Given the description of an element on the screen output the (x, y) to click on. 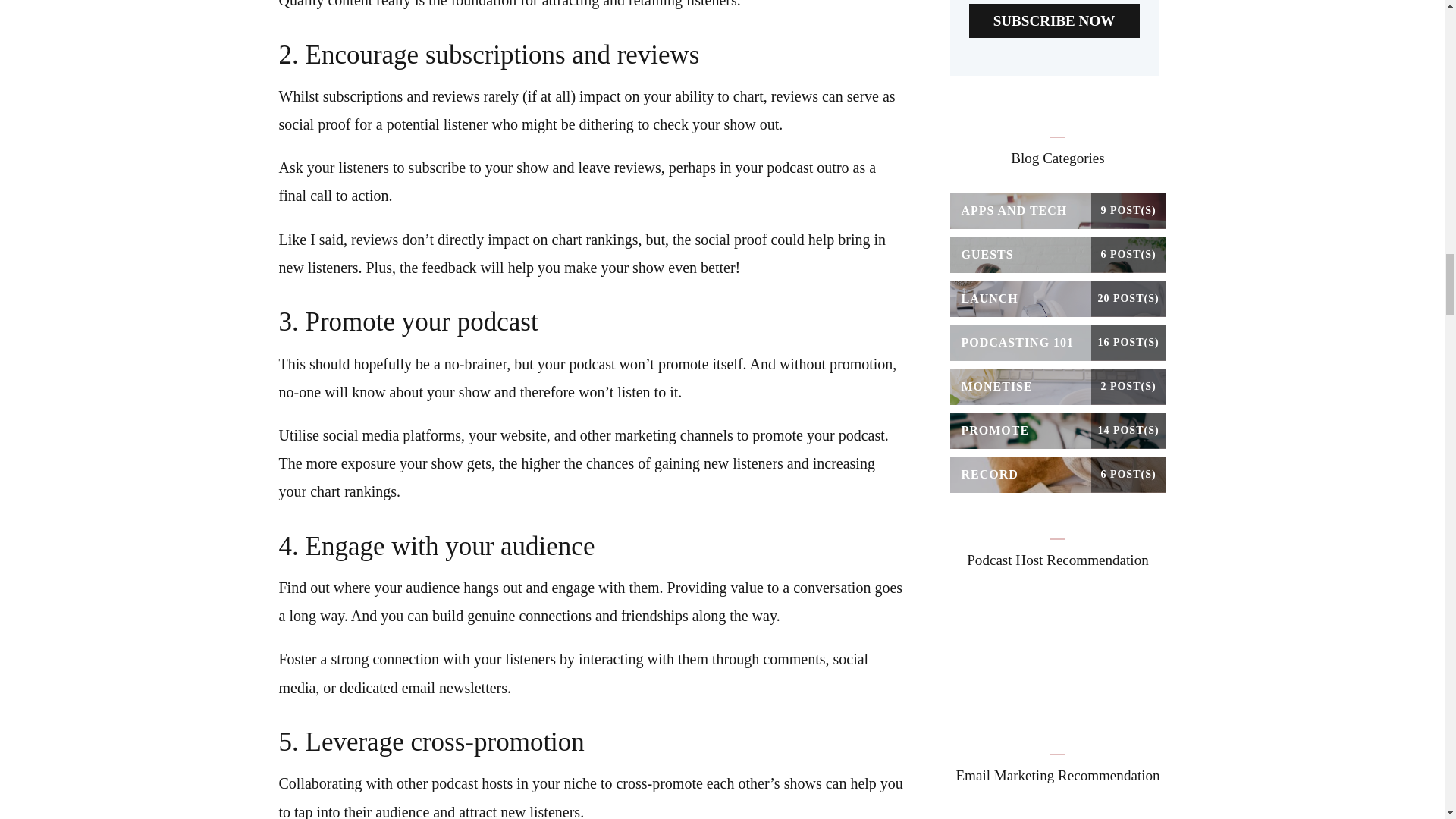
SUBSCRIBE NOW (1054, 20)
